Given the description of an element on the screen output the (x, y) to click on. 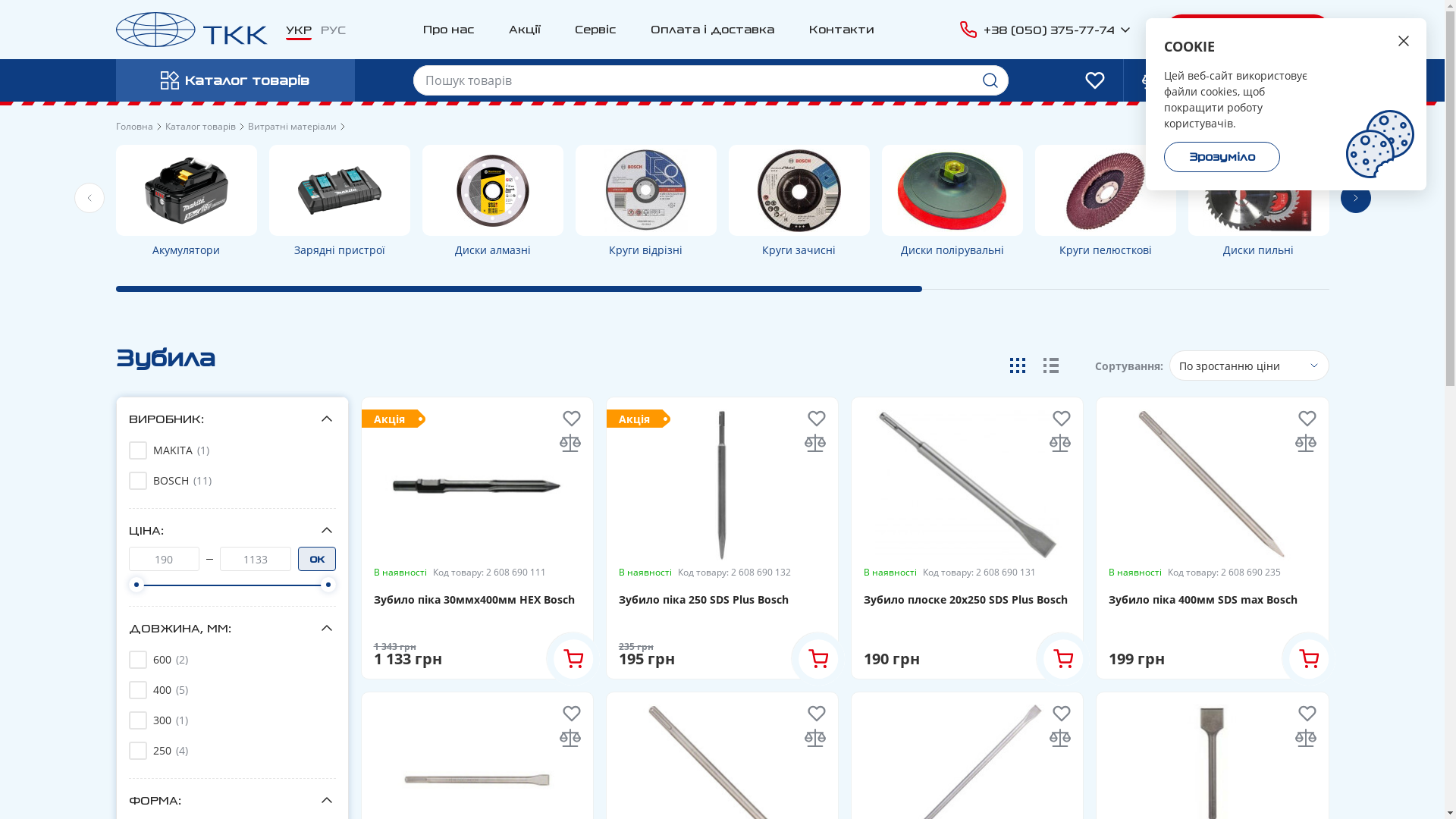
+38 (050) 375-77-74 Element type: text (1043, 29)
0 Element type: text (1207, 80)
